Given the description of an element on the screen output the (x, y) to click on. 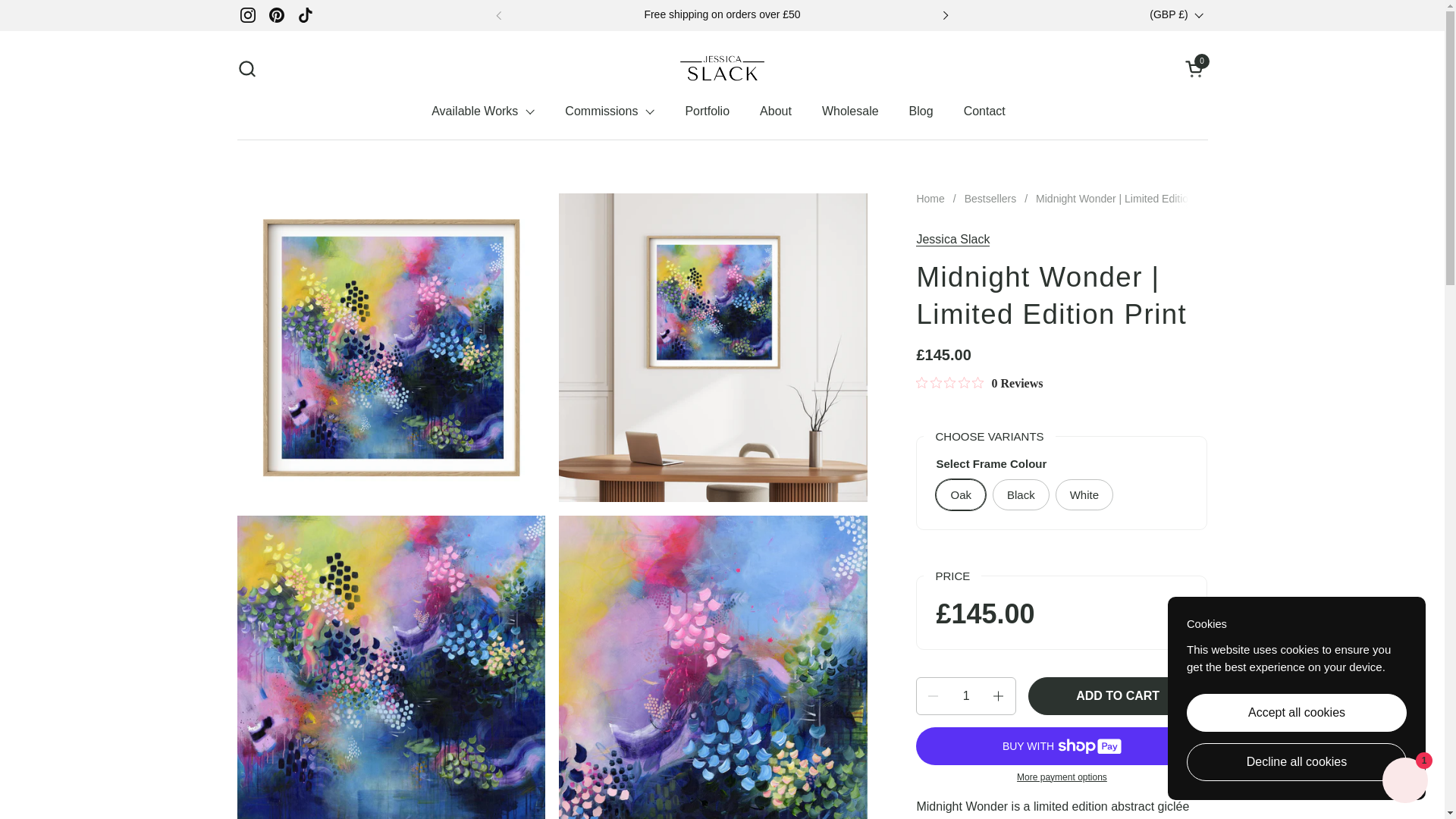
Portfolio (706, 111)
Jessica Slack (952, 239)
0 Reviews (978, 383)
Wholesale (849, 111)
About (775, 111)
Instagram (247, 14)
Contact (984, 111)
Commissions (609, 111)
Available Works (483, 111)
Open search (245, 67)
Jessica Slack (722, 68)
Open cart (1196, 67)
TikTok (305, 14)
